Given the description of an element on the screen output the (x, y) to click on. 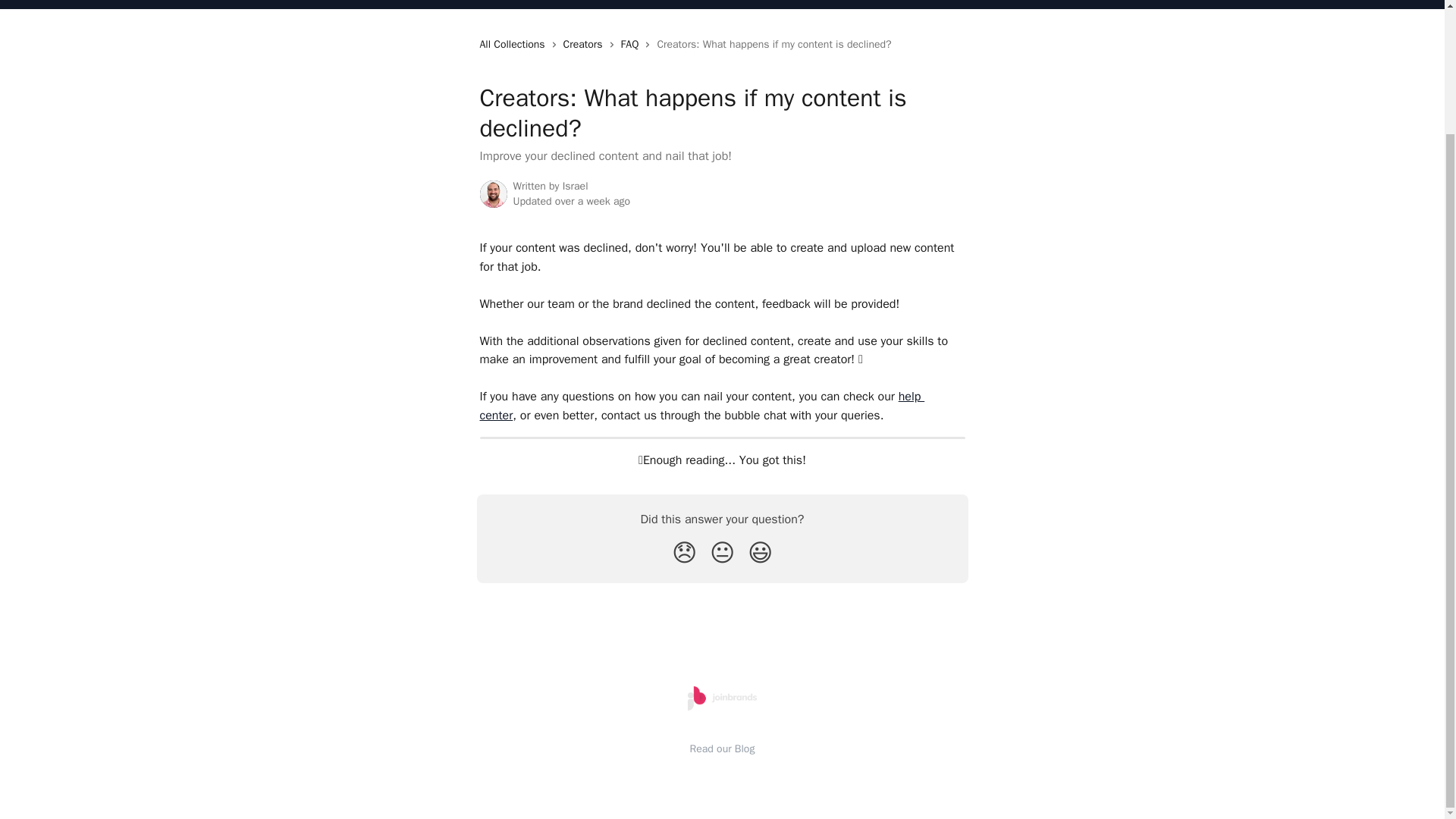
Read our Blog (722, 748)
FAQ (633, 44)
All Collections (514, 44)
Creators (585, 44)
help center (701, 405)
